Given the description of an element on the screen output the (x, y) to click on. 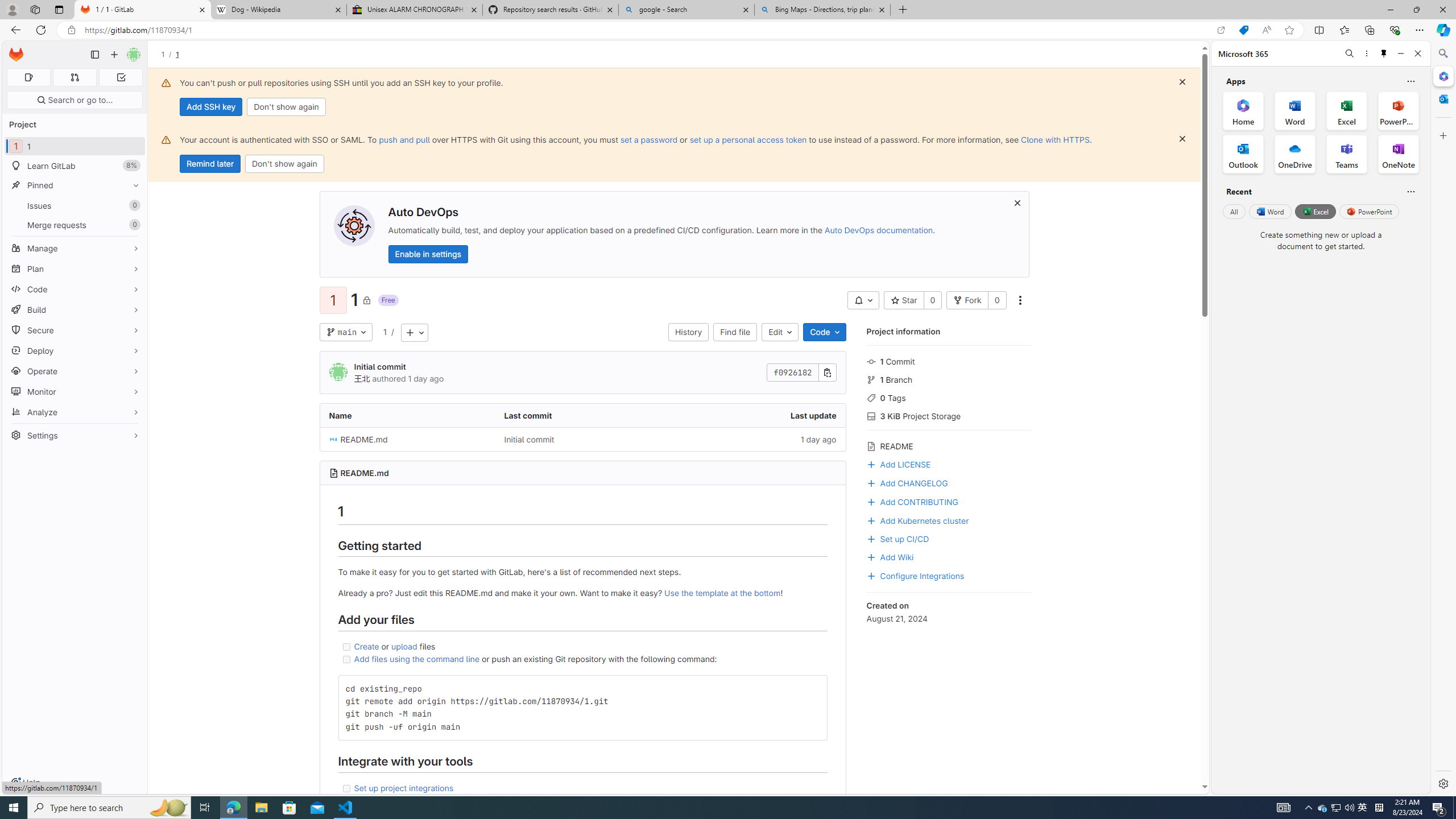
Class: task-list-item-checkbox (346, 787)
Create or upload files (582, 646)
Learn GitLab8% (74, 165)
Add CONTRIBUTING (948, 501)
Fork (967, 300)
Add SSH key (211, 106)
To-Do list 0 (120, 76)
Edit (780, 331)
History (688, 331)
Teams Office App (1346, 154)
